Given the description of an element on the screen output the (x, y) to click on. 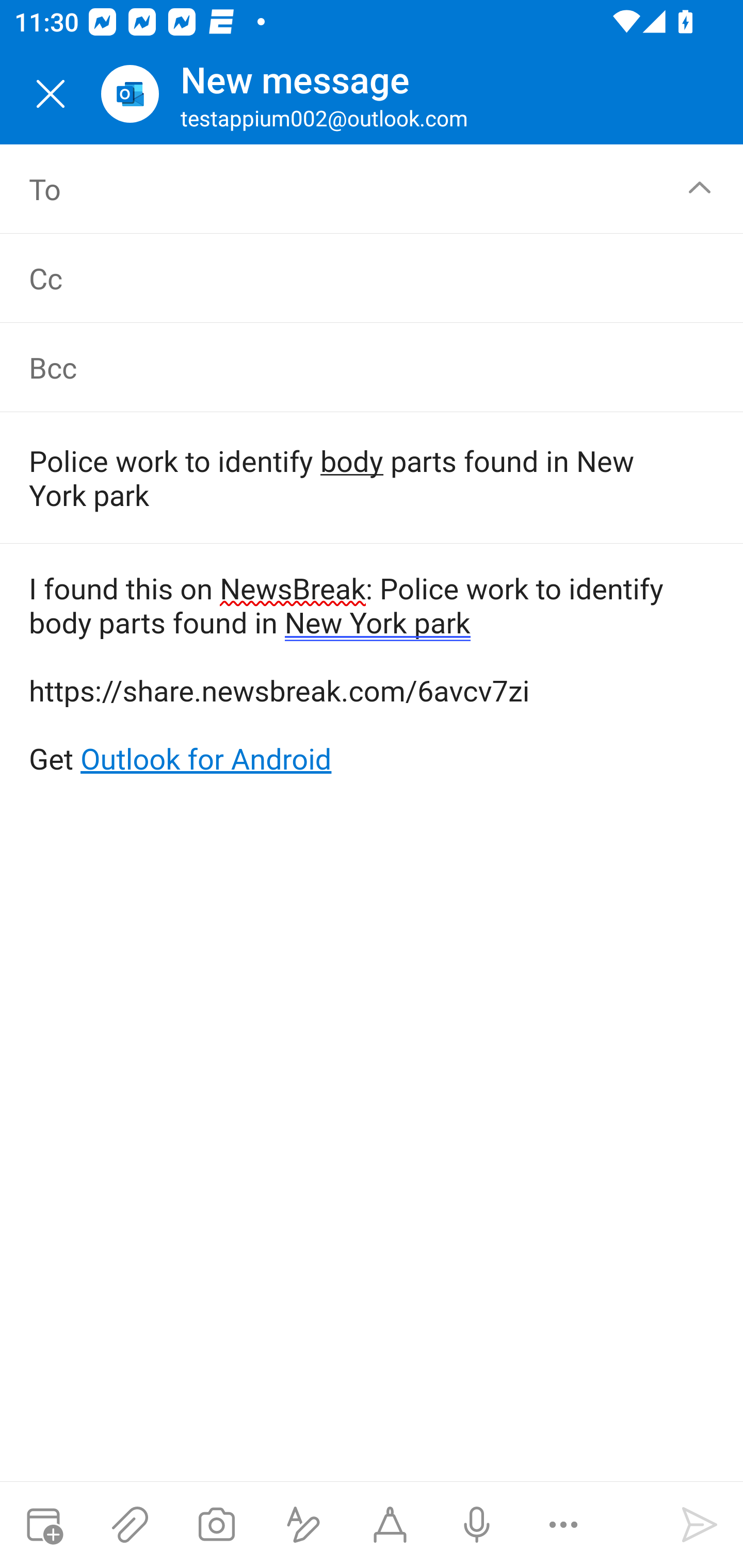
Close (50, 93)
Attach meeting (43, 1524)
Attach files (129, 1524)
Take a photo (216, 1524)
Show formatting options (303, 1524)
Start Ink compose (389, 1524)
Dictation (476, 1524)
More options (563, 1524)
Send (699, 1524)
